Given the description of an element on the screen output the (x, y) to click on. 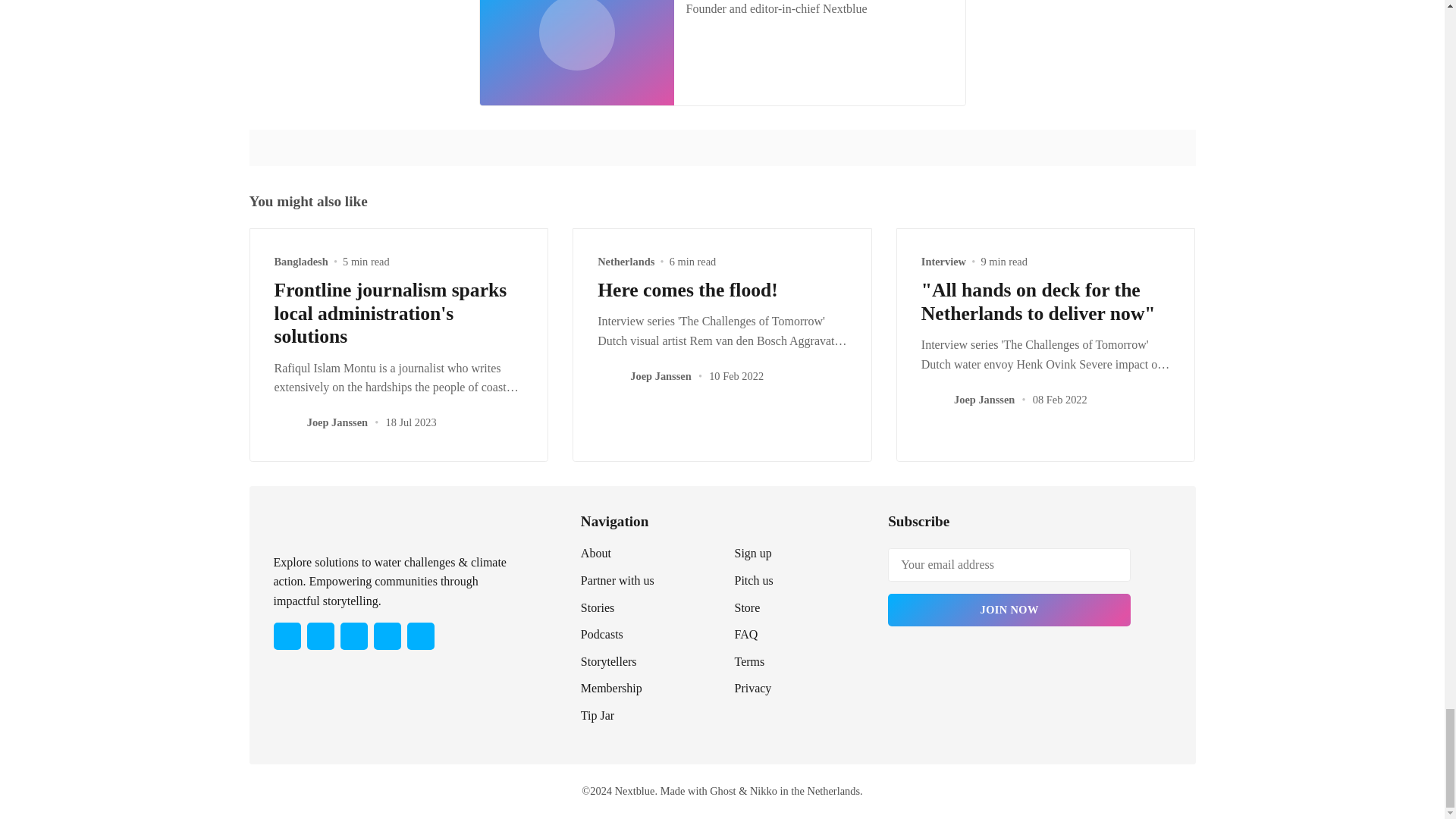
Twitter (695, 82)
Instagram (352, 636)
Twitter (286, 636)
Facebook (319, 636)
YouTube (386, 636)
Website (723, 82)
